Given the description of an element on the screen output the (x, y) to click on. 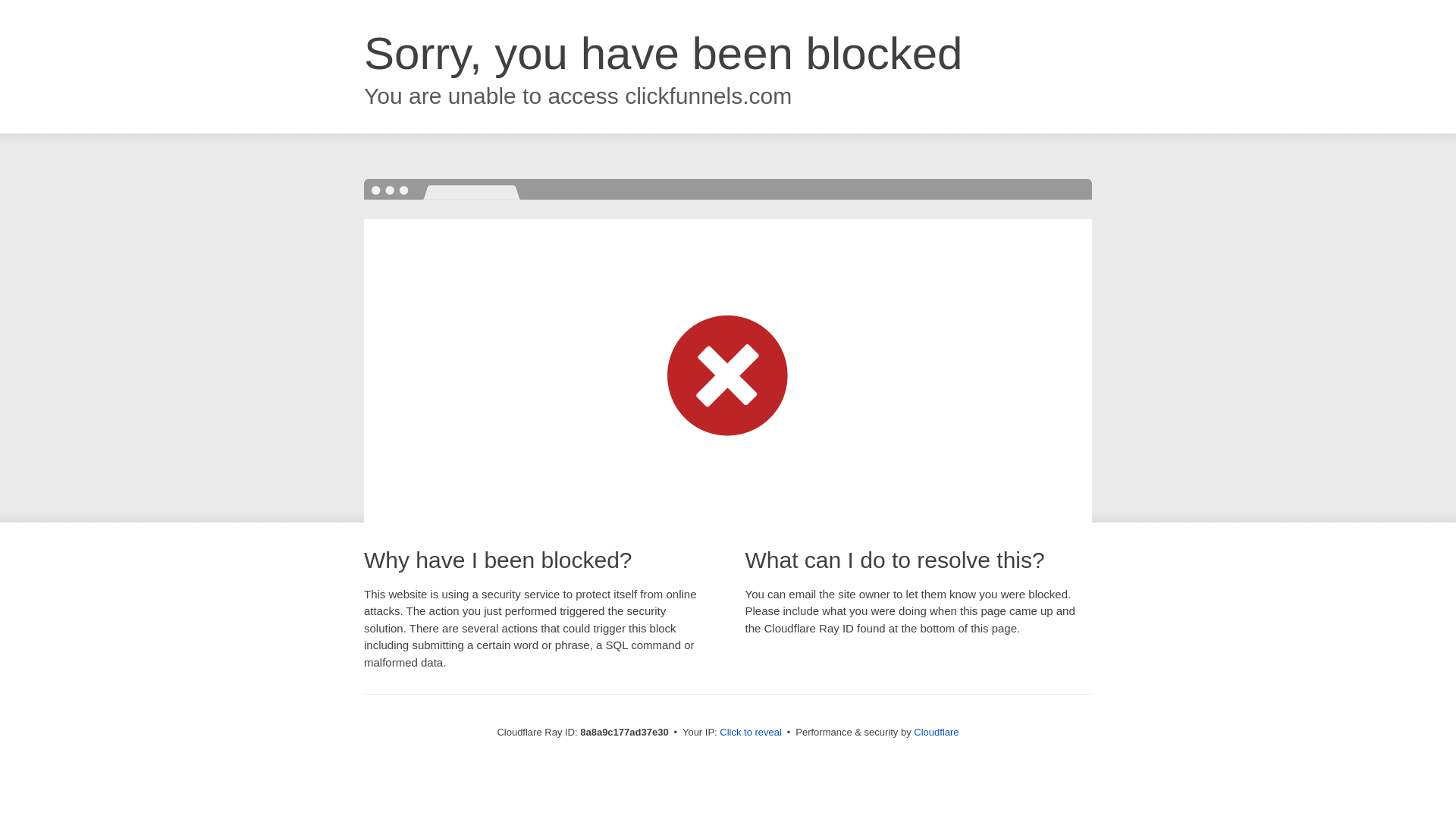
Click to reveal (750, 732)
Cloudflare (936, 731)
